Given the description of an element on the screen output the (x, y) to click on. 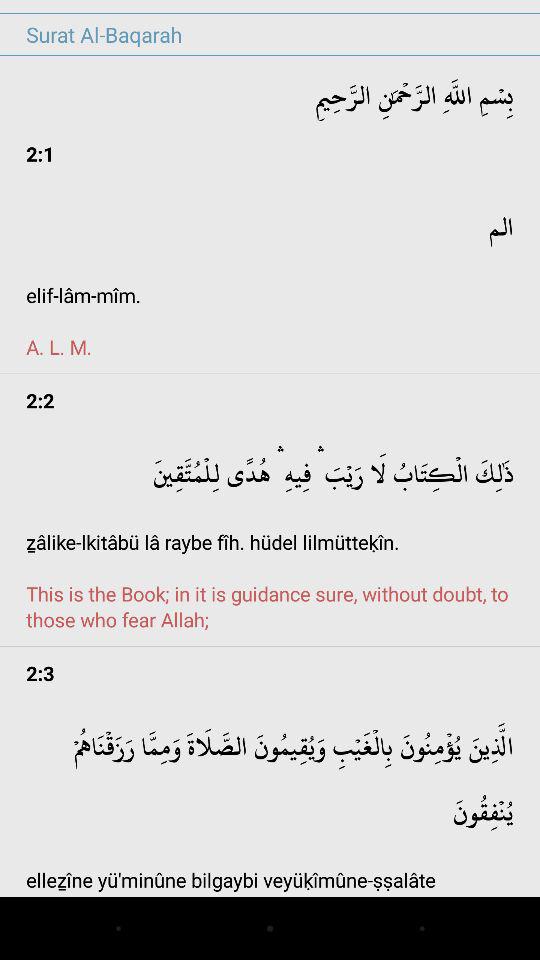
click app below 2:3 icon (270, 797)
